Given the description of an element on the screen output the (x, y) to click on. 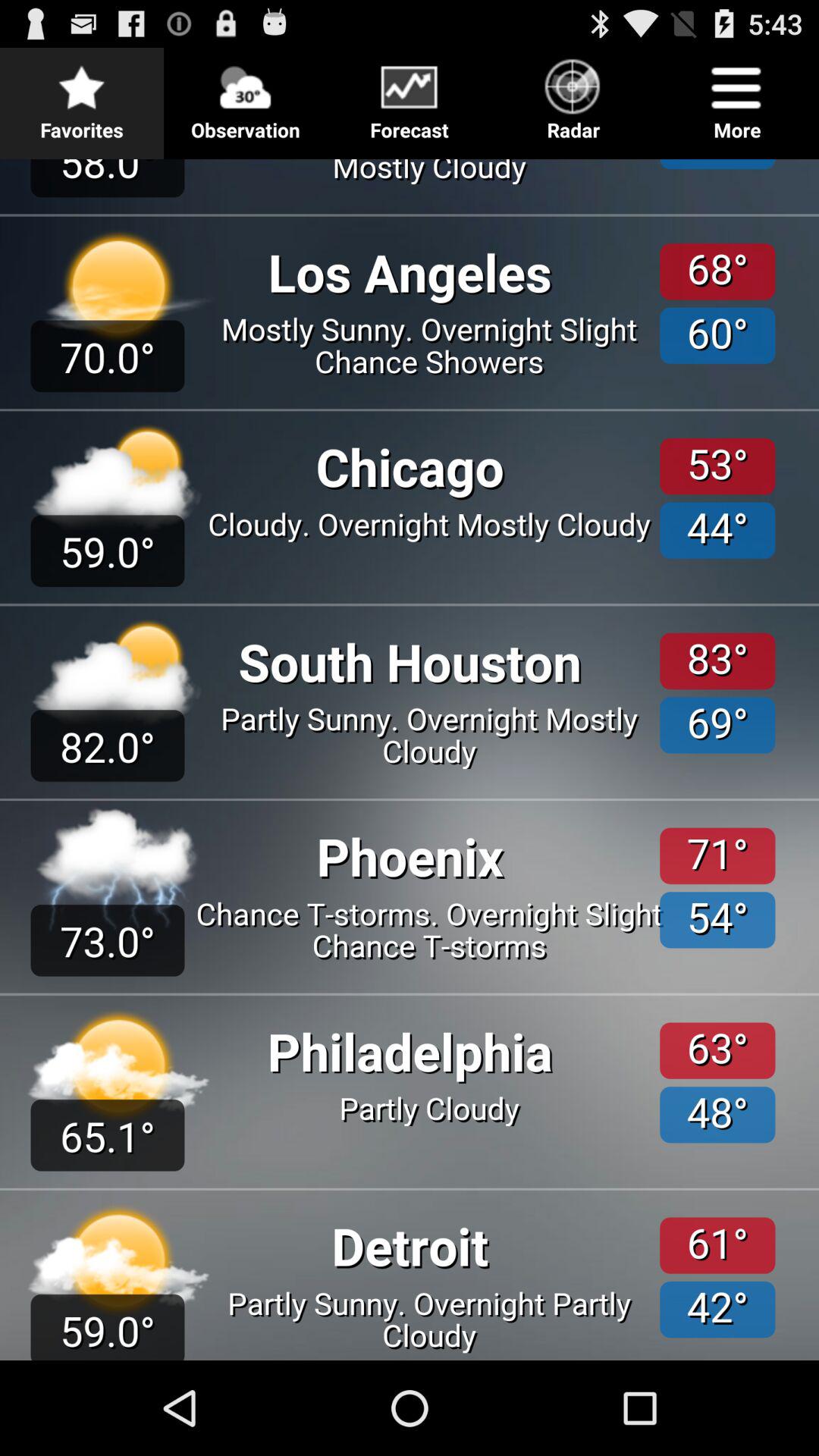
click the item next to the observation button (81, 95)
